Given the description of an element on the screen output the (x, y) to click on. 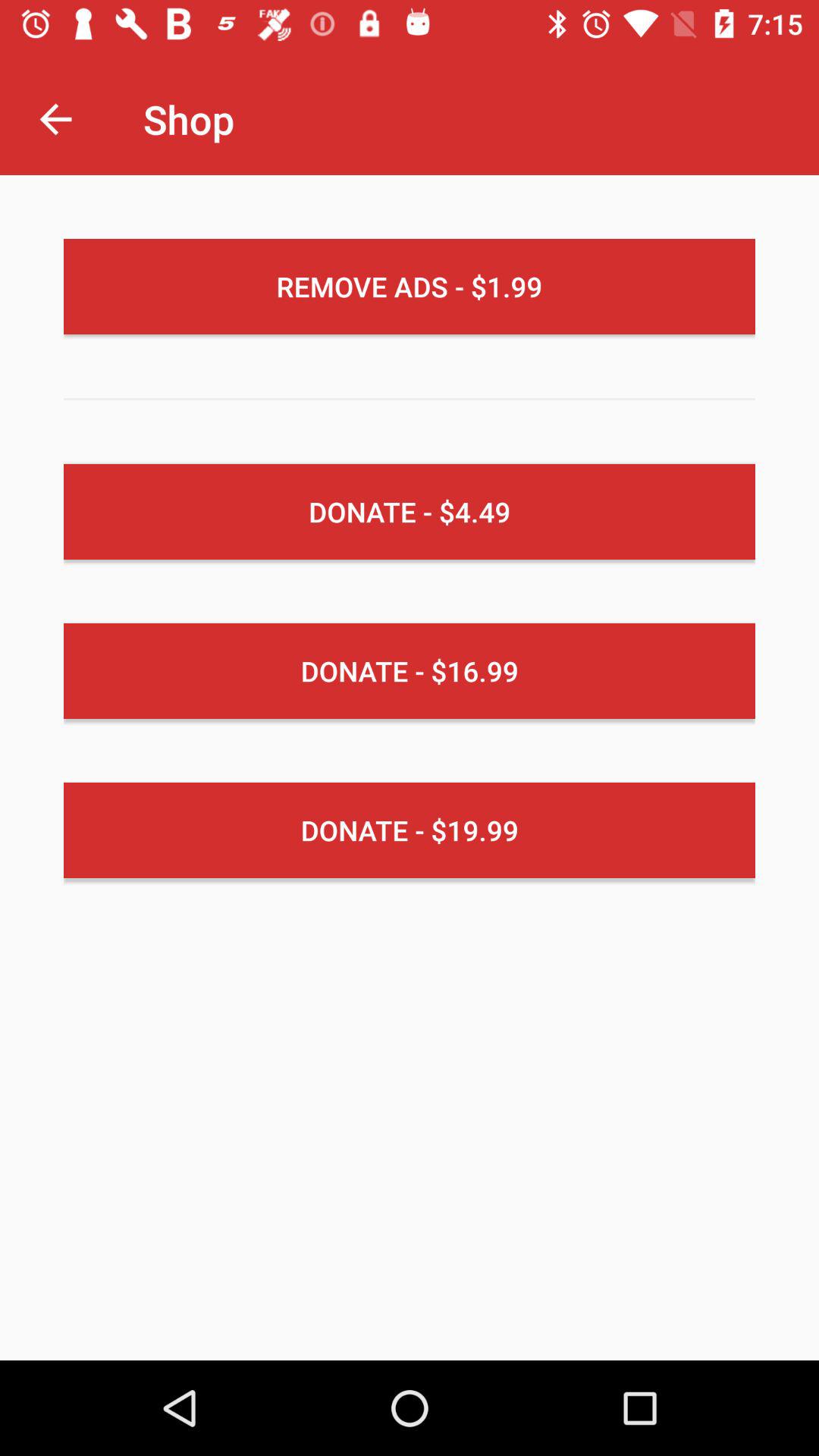
launch the remove ads 1 item (409, 286)
